Given the description of an element on the screen output the (x, y) to click on. 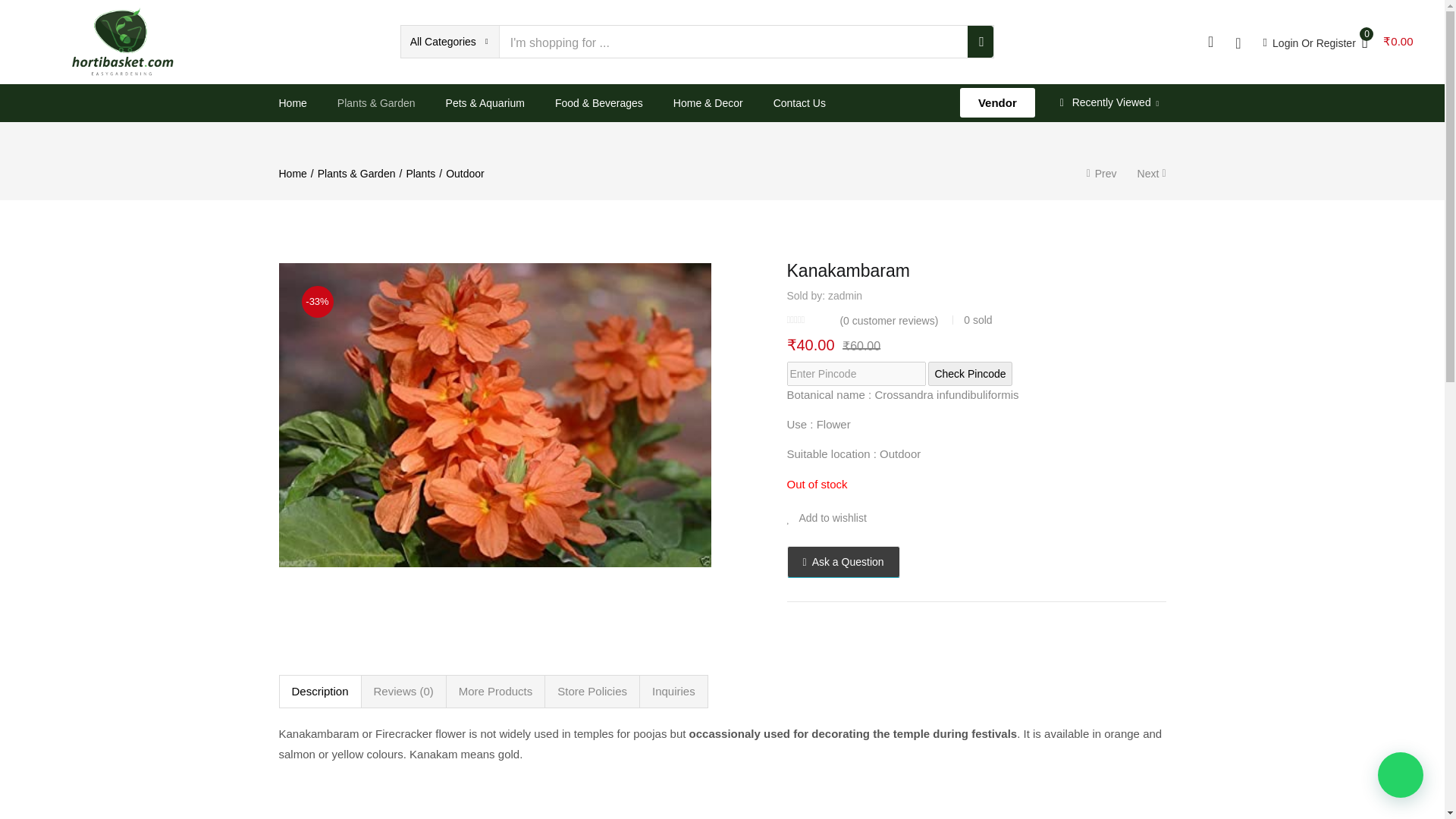
View your shopping cart (1387, 41)
 All Categories (450, 41)
Wishlist (976, 518)
